Given the description of an element on the screen output the (x, y) to click on. 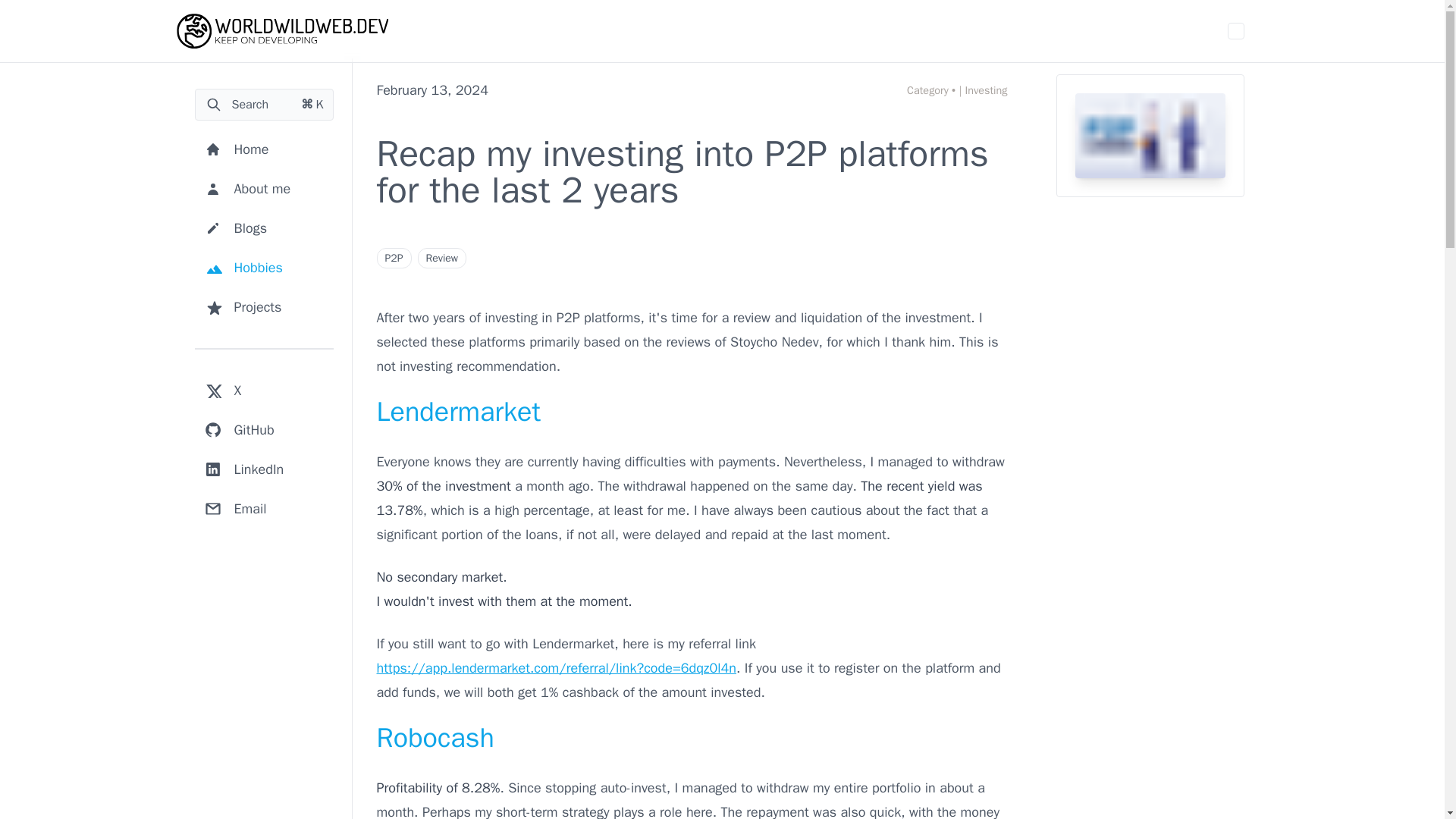
Georgi Marokov's Site (282, 30)
X (221, 390)
Robocash (434, 737)
LinkedIn (242, 469)
Hobbies (242, 267)
Projects (241, 306)
GitHub (237, 429)
Home (235, 149)
About me (246, 188)
Email (234, 508)
